Given the description of an element on the screen output the (x, y) to click on. 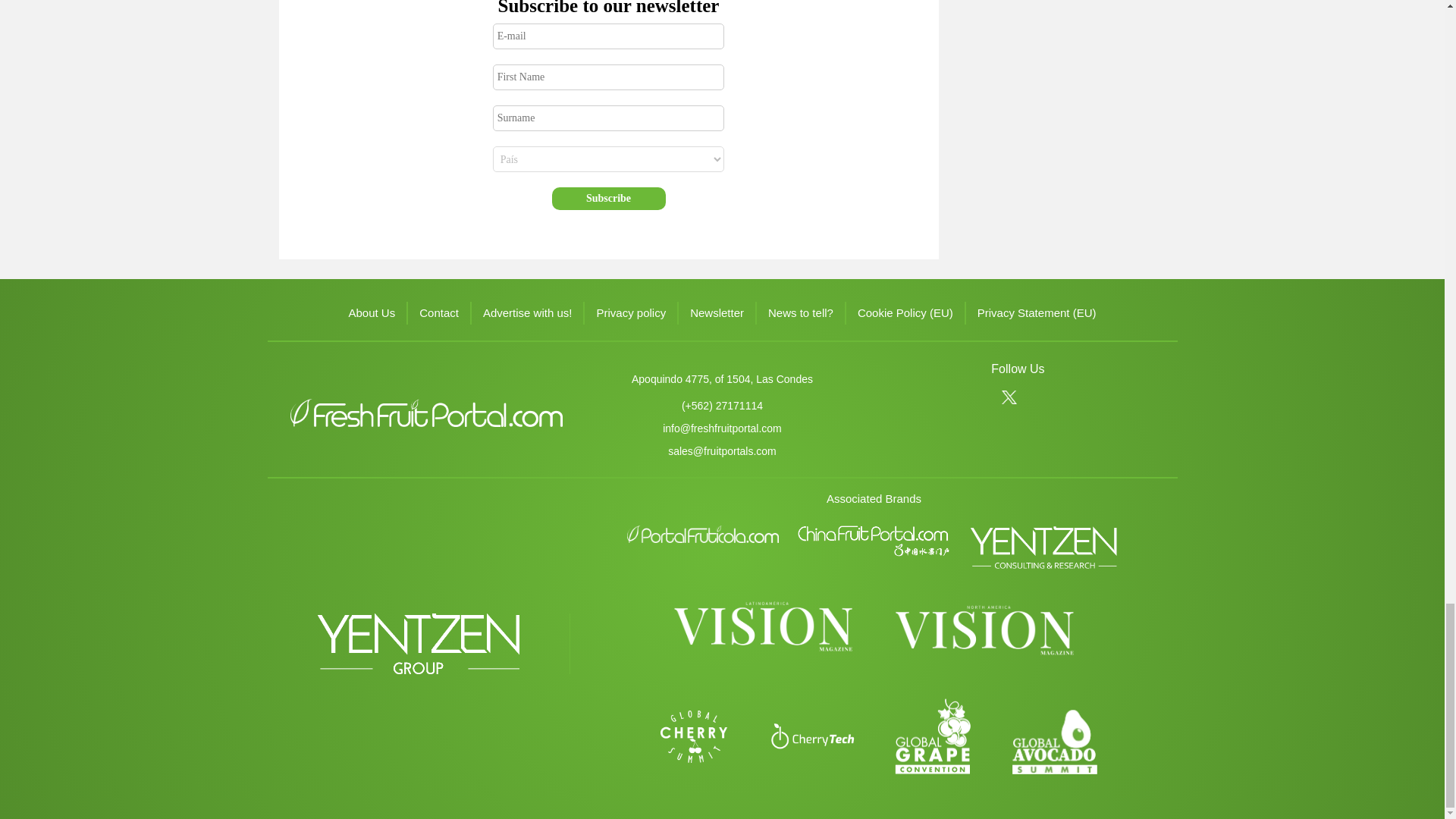
Subscribe (608, 198)
